Given the description of an element on the screen output the (x, y) to click on. 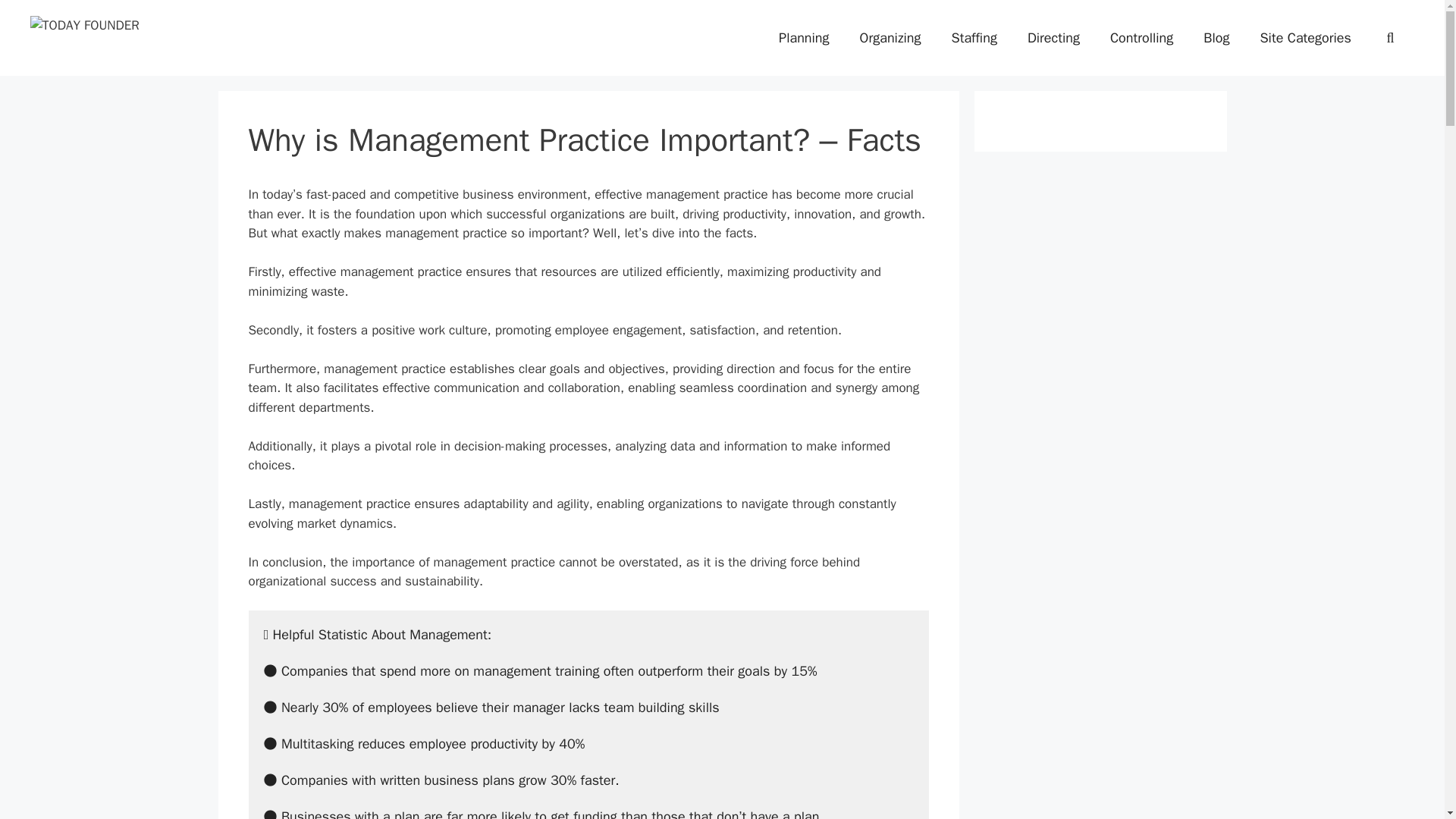
Blog (1216, 37)
Site Categories (1304, 37)
Controlling (1141, 37)
Directing (1052, 37)
Planning (803, 37)
Staffing (973, 37)
Organizing (890, 37)
